Given the description of an element on the screen output the (x, y) to click on. 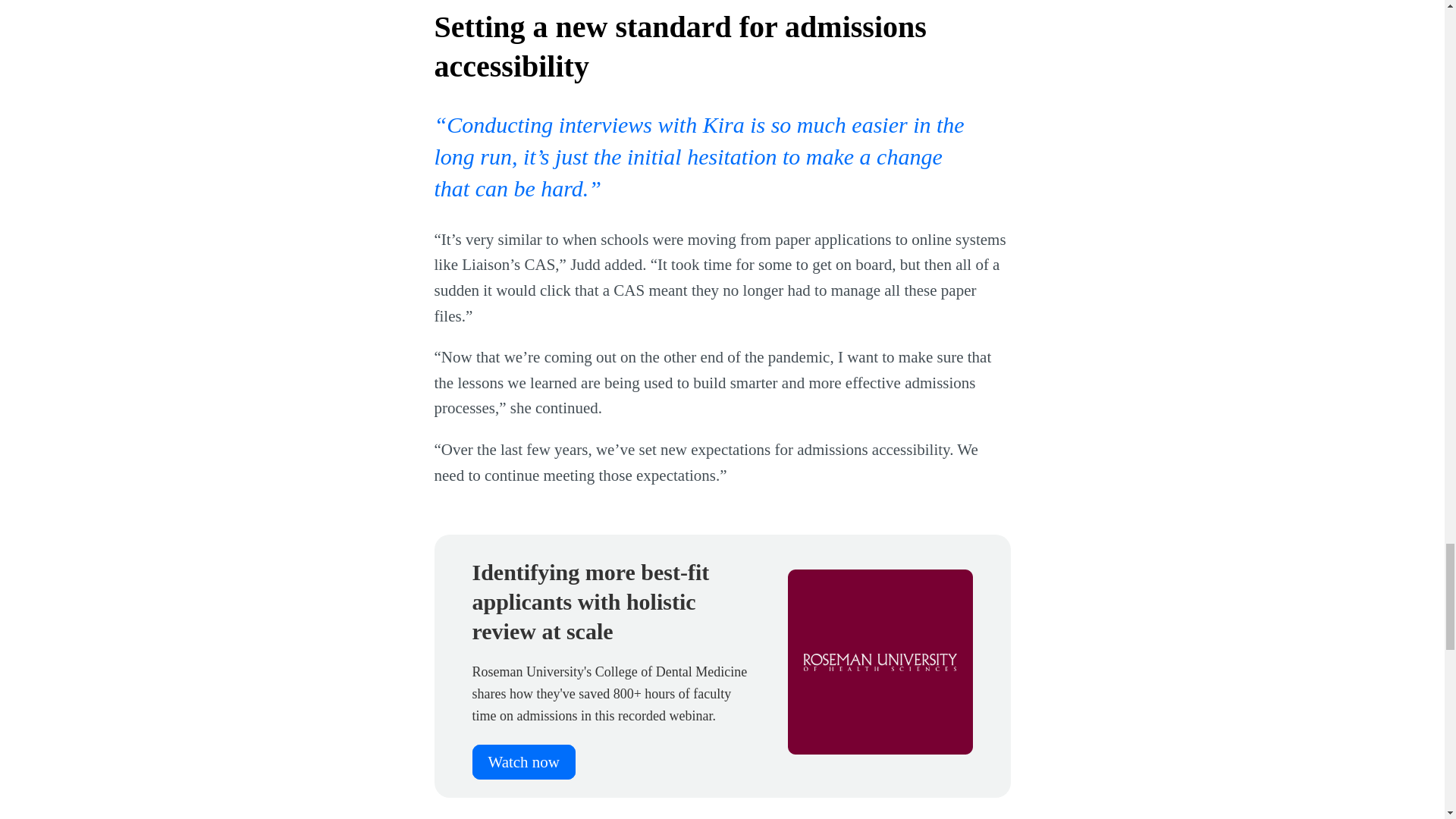
roseman-health-science (879, 661)
